Given the description of an element on the screen output the (x, y) to click on. 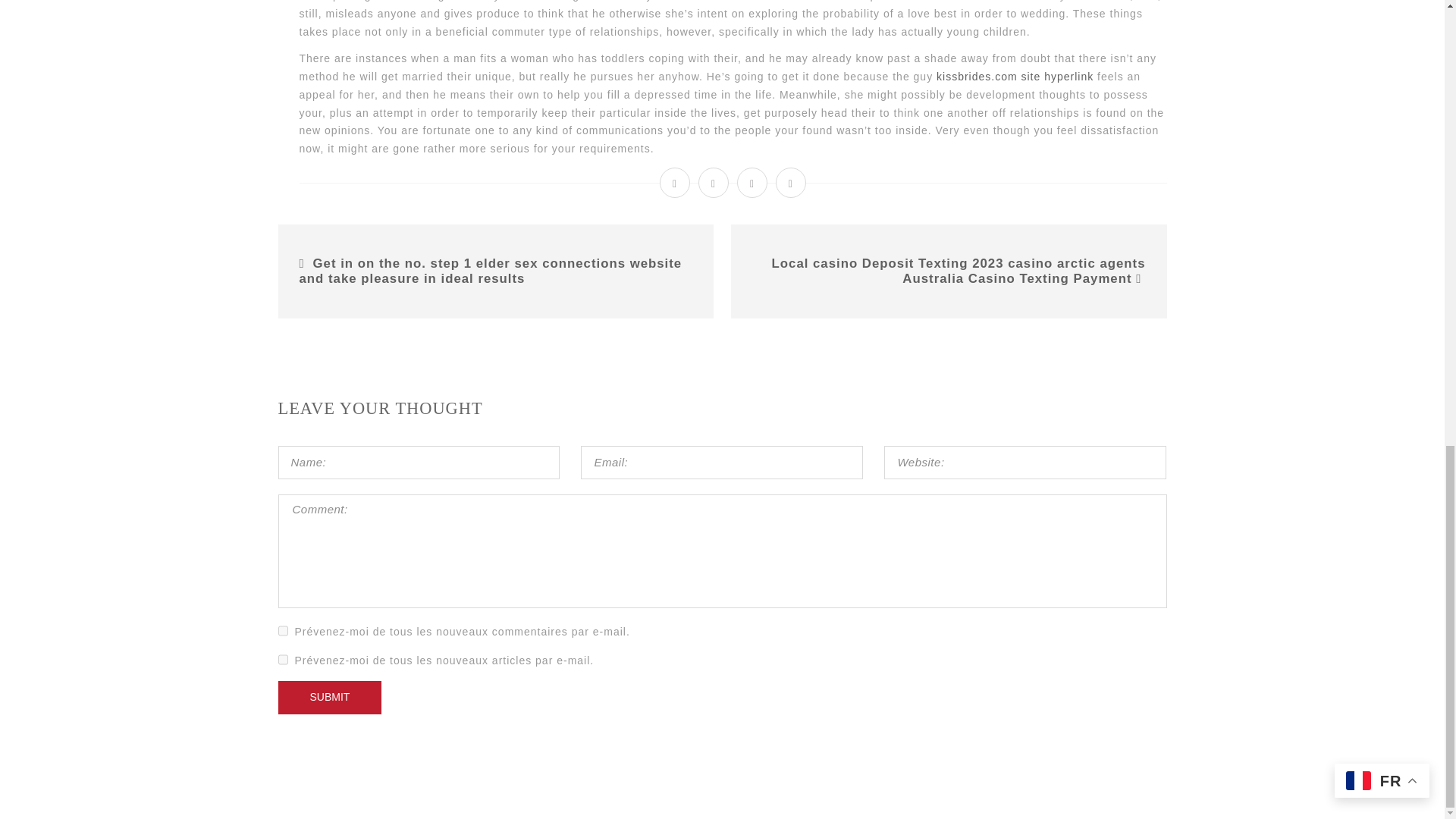
Share on Pinterest (791, 182)
kissbrides.com site hyperlink (1014, 76)
Share on Facebook (674, 182)
Share on Twitter (713, 182)
Submit (329, 697)
Submit (329, 697)
